Given the description of an element on the screen output the (x, y) to click on. 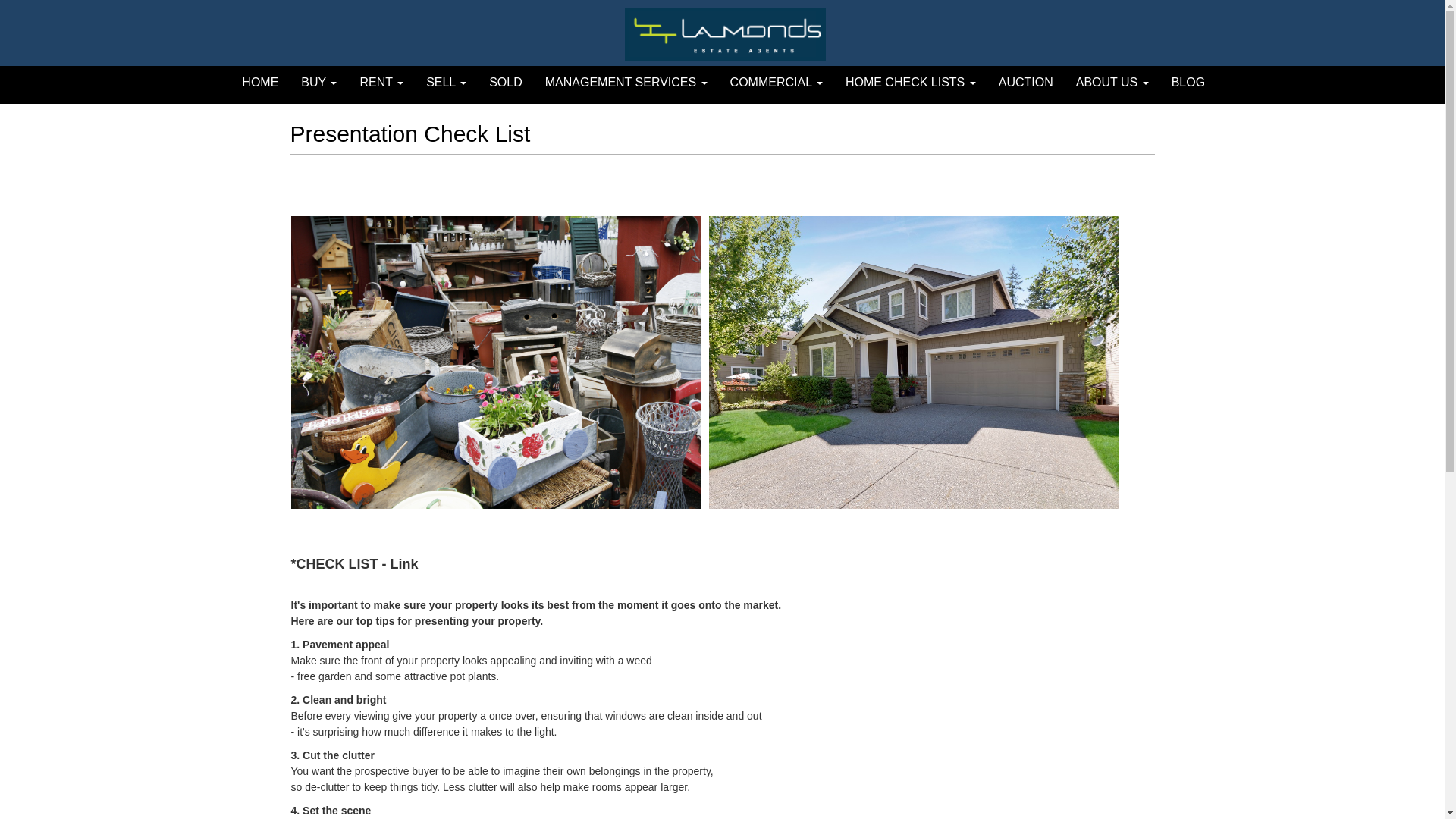
RENT Element type: text (381, 82)
HOME CHECK LISTS Element type: text (910, 82)
BLOG Element type: text (1188, 82)
HOME Element type: text (259, 82)
ABOUT US Element type: text (1112, 82)
MANAGEMENT SERVICES Element type: text (625, 82)
SELL Element type: text (445, 82)
SOLD Element type: text (505, 82)
AUCTION Element type: text (1025, 82)
BUY Element type: text (318, 82)
*CHECK LIST Element type: text (334, 563)
COMMERCIAL Element type: text (776, 82)
